Given the description of an element on the screen output the (x, y) to click on. 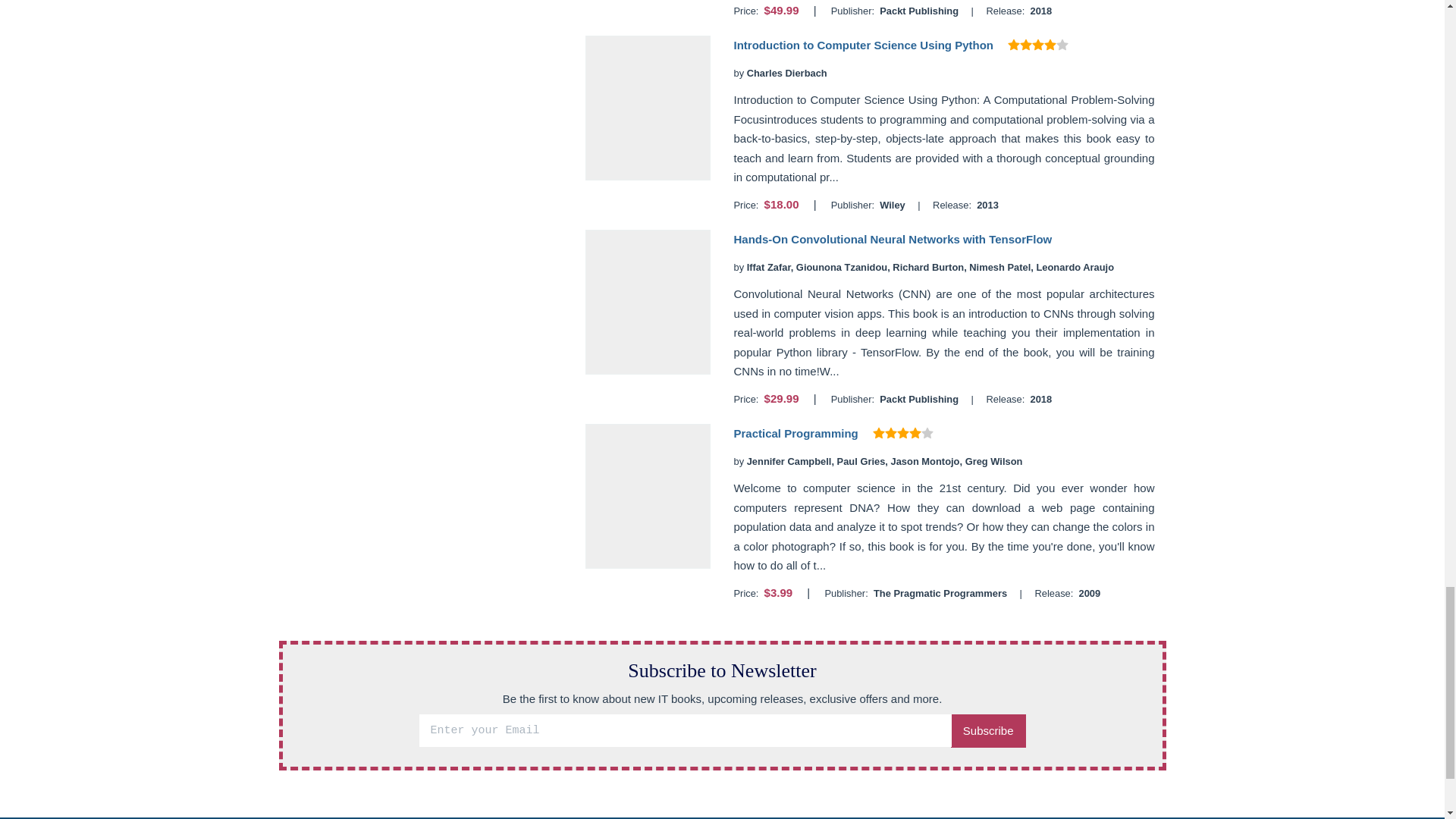
Introduction to Computer Science Using Python (862, 44)
